Given the description of an element on the screen output the (x, y) to click on. 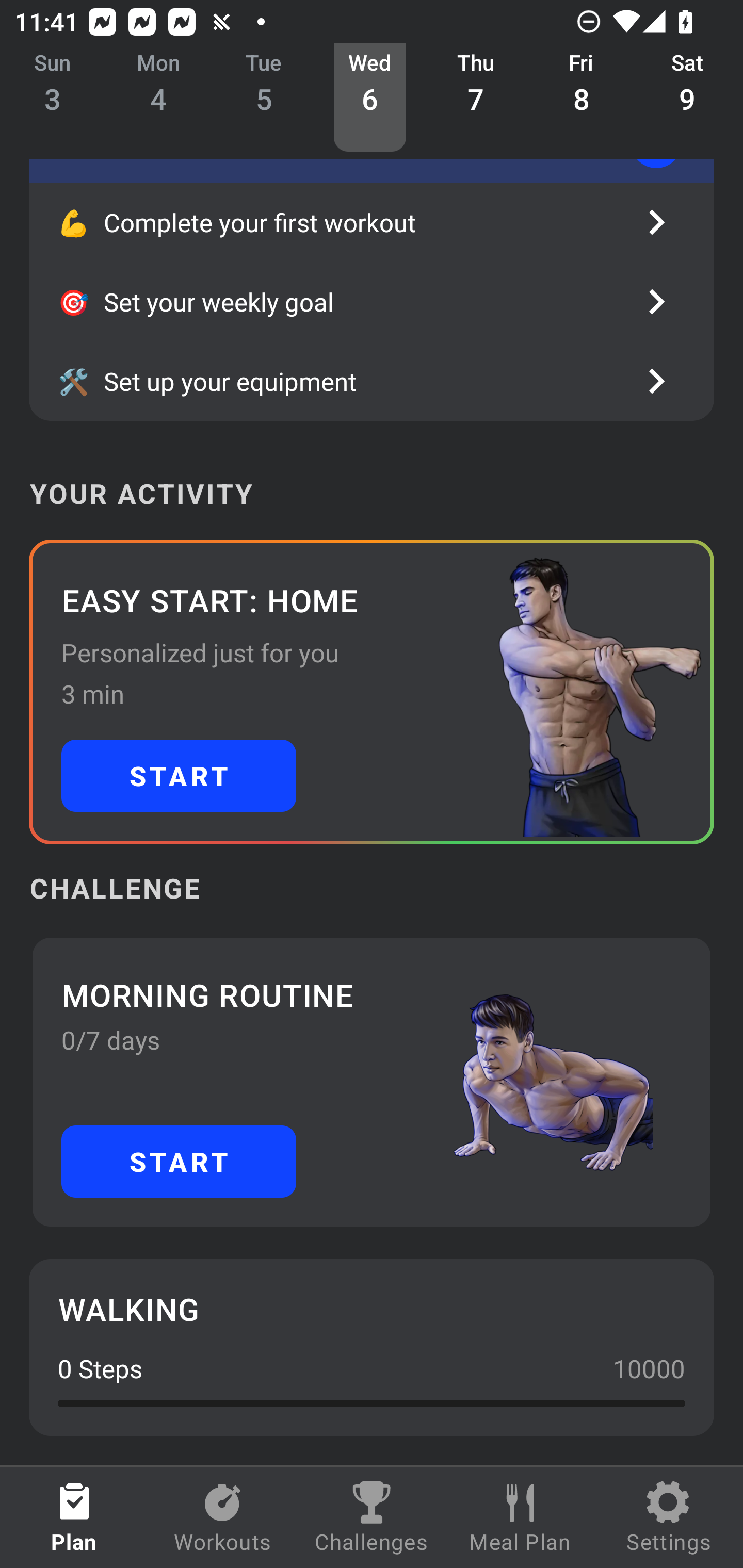
Sun 3 (52, 97)
Mon 4 (158, 97)
Tue 5 (264, 97)
Wed 6 (369, 97)
Thu 7 (475, 97)
Fri 8 (581, 97)
Sat 9 (687, 97)
💪 Complete your first workout (371, 221)
🎯 Set your weekly goal (371, 301)
🛠️ Set up your equipment (371, 380)
START (178, 776)
MORNING ROUTINE 0/7 days START (371, 1082)
START (178, 1161)
WALKING 0 Steps 10000 0.0 (371, 1347)
 Workouts  (222, 1517)
 Challenges  (371, 1517)
 Meal Plan  (519, 1517)
 Settings  (668, 1517)
